Given the description of an element on the screen output the (x, y) to click on. 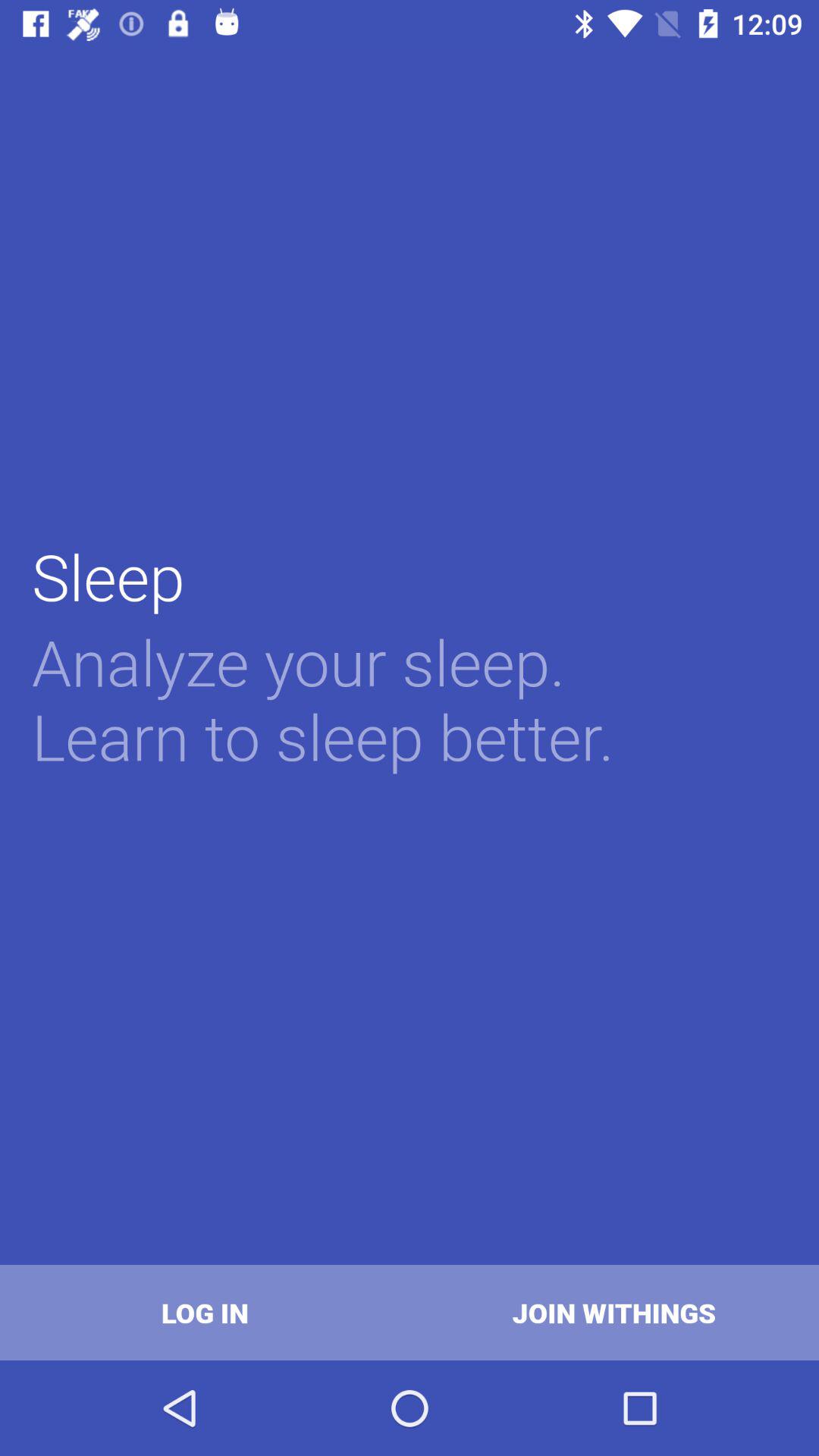
turn off the item below analyze your sleep (614, 1312)
